Given the description of an element on the screen output the (x, y) to click on. 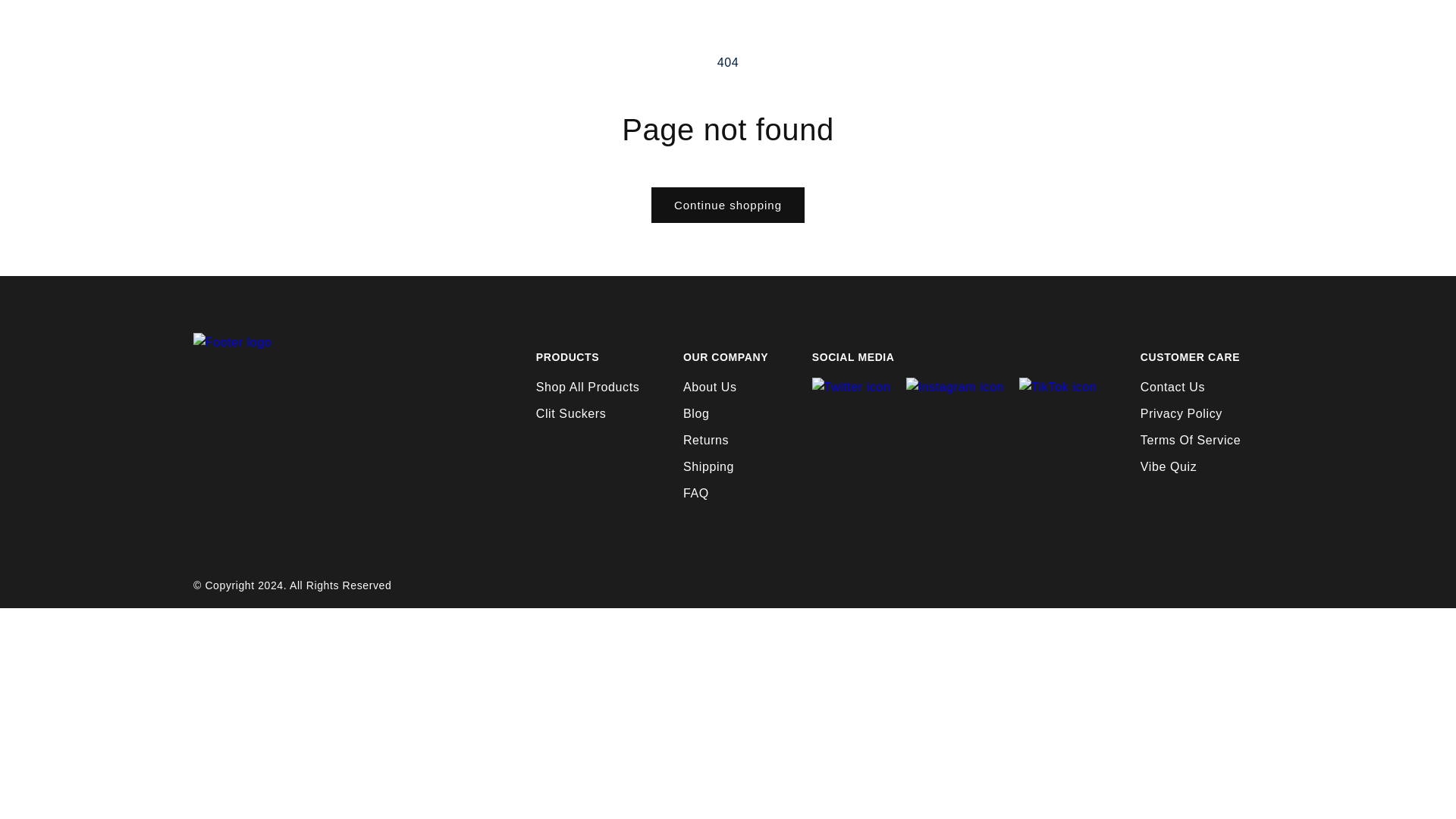
Terms Of Service (1190, 440)
Vibe Quiz (1168, 466)
Contact Us (1172, 386)
Returns (705, 440)
About Us (709, 386)
FAQ (695, 492)
Shop All Products (587, 386)
Skip to content (45, 17)
Shipping (707, 466)
Privacy Policy (1181, 413)
